Given the description of an element on the screen output the (x, y) to click on. 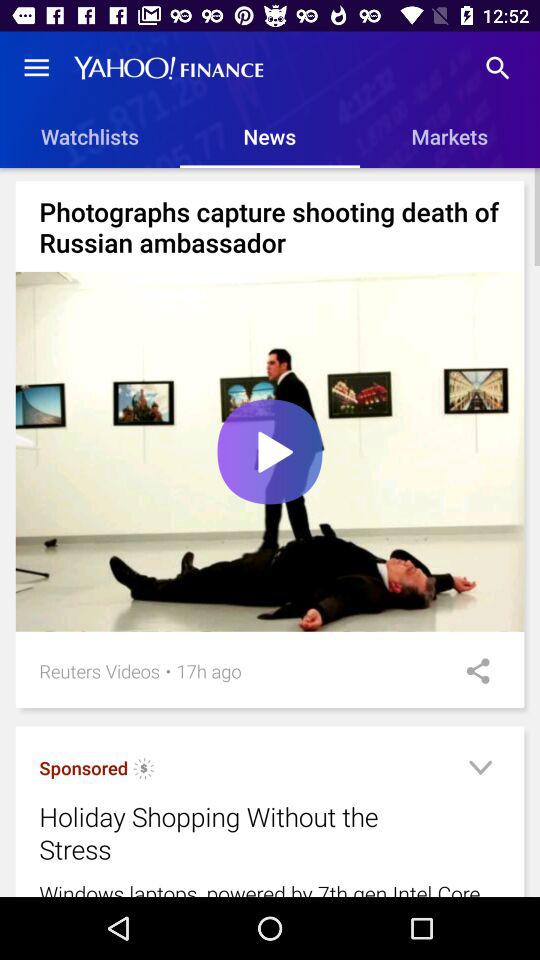
flip to the reuters videos (99, 670)
